Given the description of an element on the screen output the (x, y) to click on. 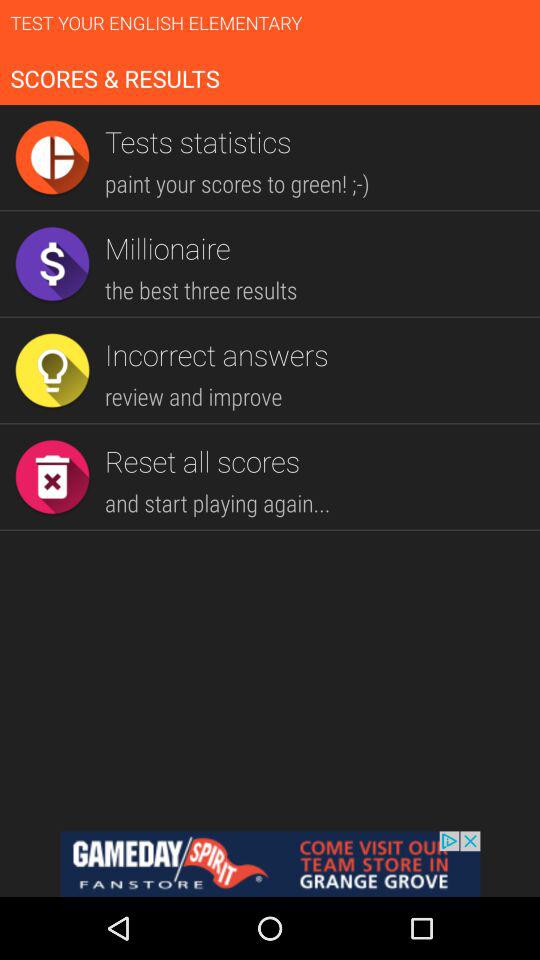
goes to advertiser 's website (270, 864)
